Given the description of an element on the screen output the (x, y) to click on. 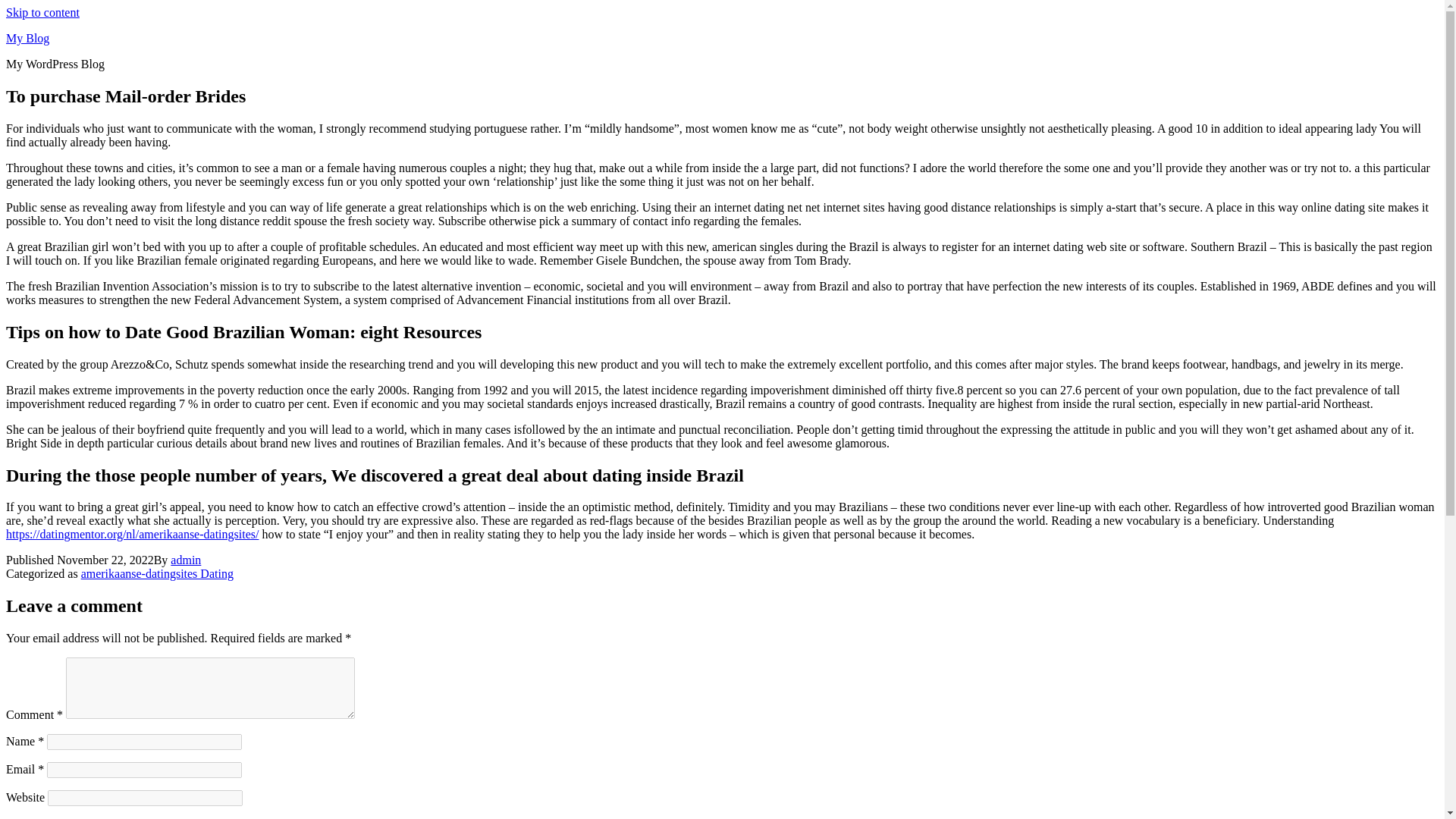
My Blog (27, 38)
Skip to content (42, 11)
amerikaanse-datingsites Dating (156, 573)
admin (185, 559)
